Given the description of an element on the screen output the (x, y) to click on. 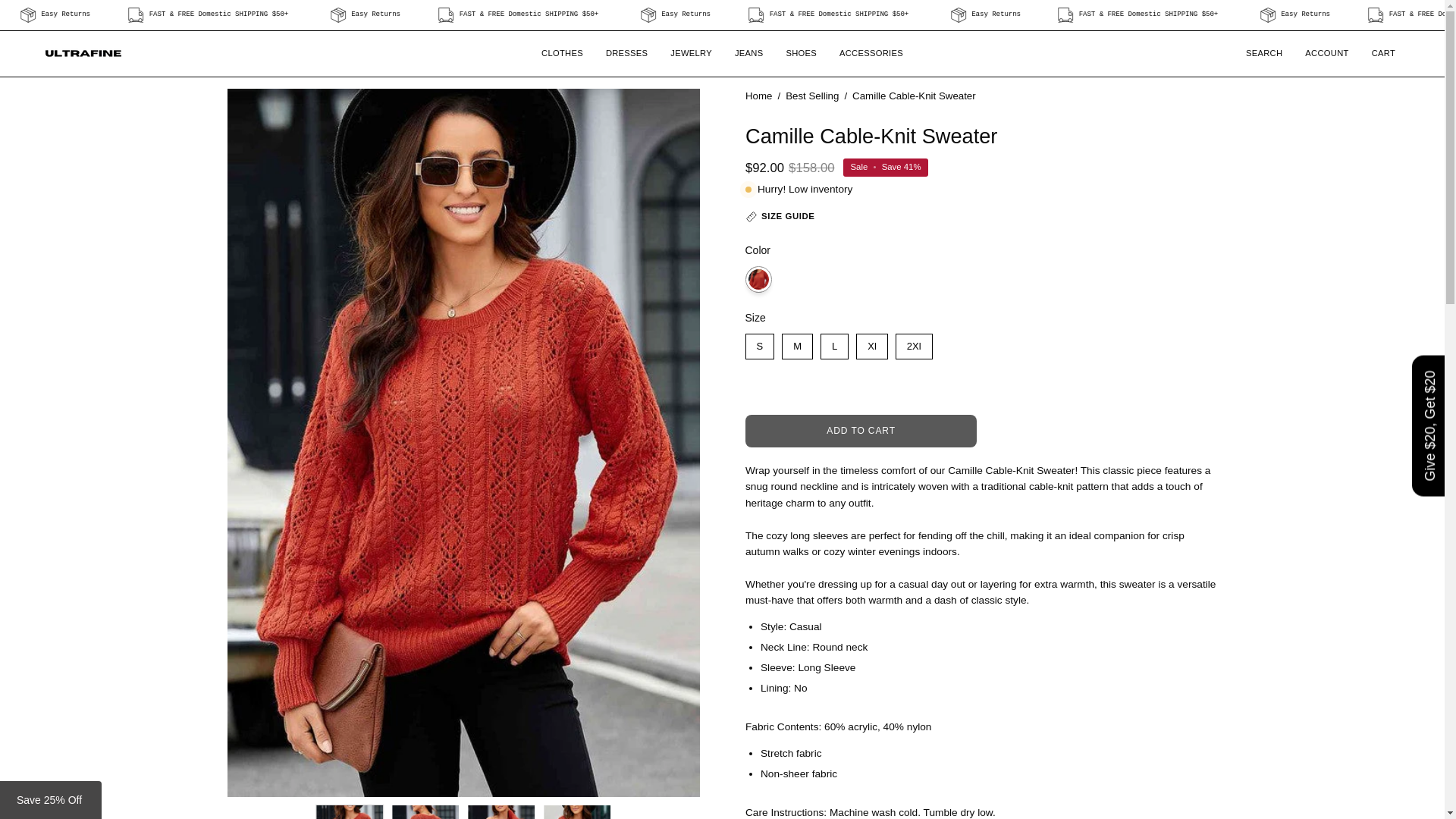
Go back to Home page (757, 96)
Open search bar (1264, 53)
